Given the description of an element on the screen output the (x, y) to click on. 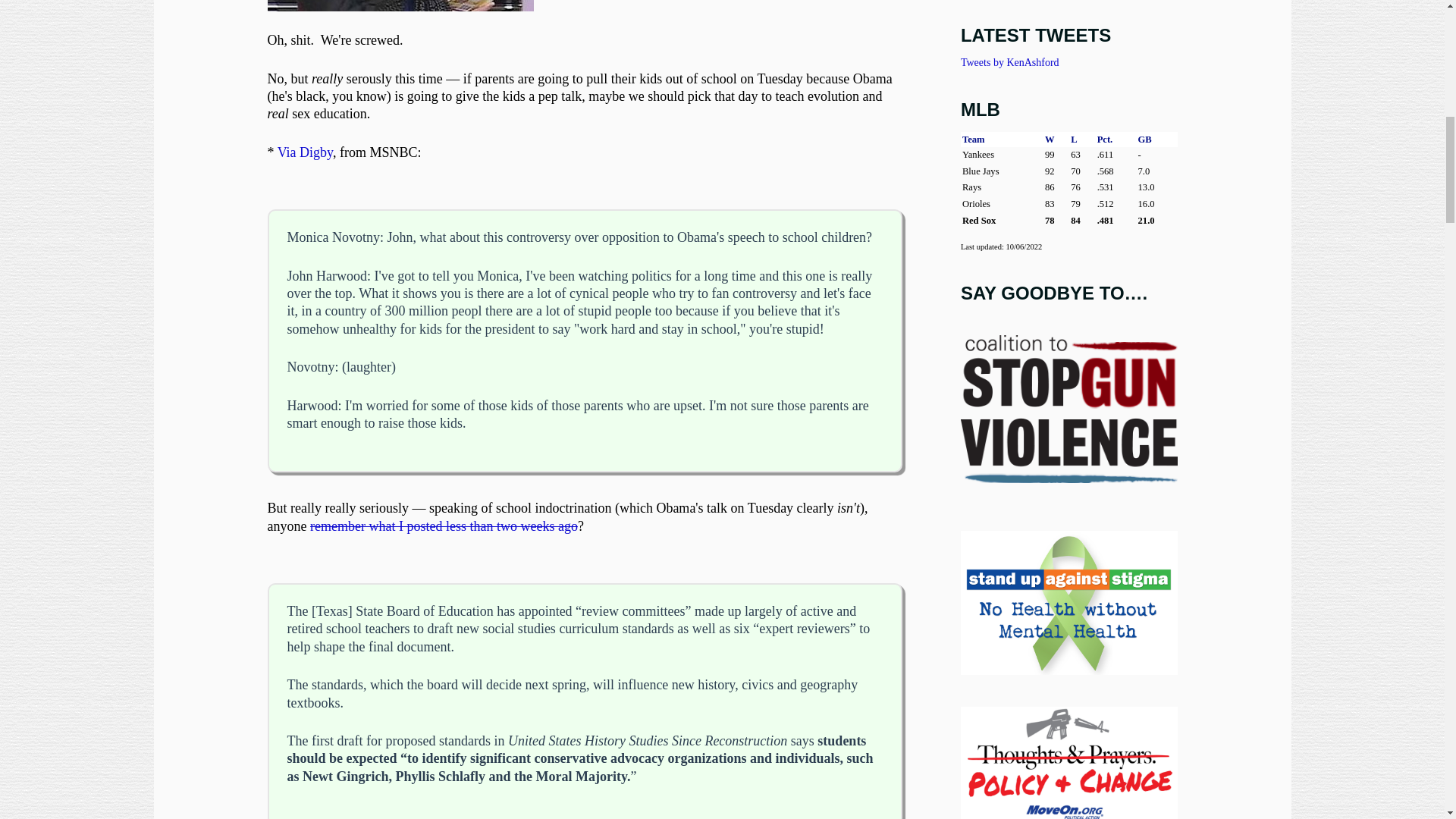
remember what I posted less than two weeks ago (444, 525)
Via Digby (305, 151)
Tweets by KenAshford (1009, 61)
